Given the description of an element on the screen output the (x, y) to click on. 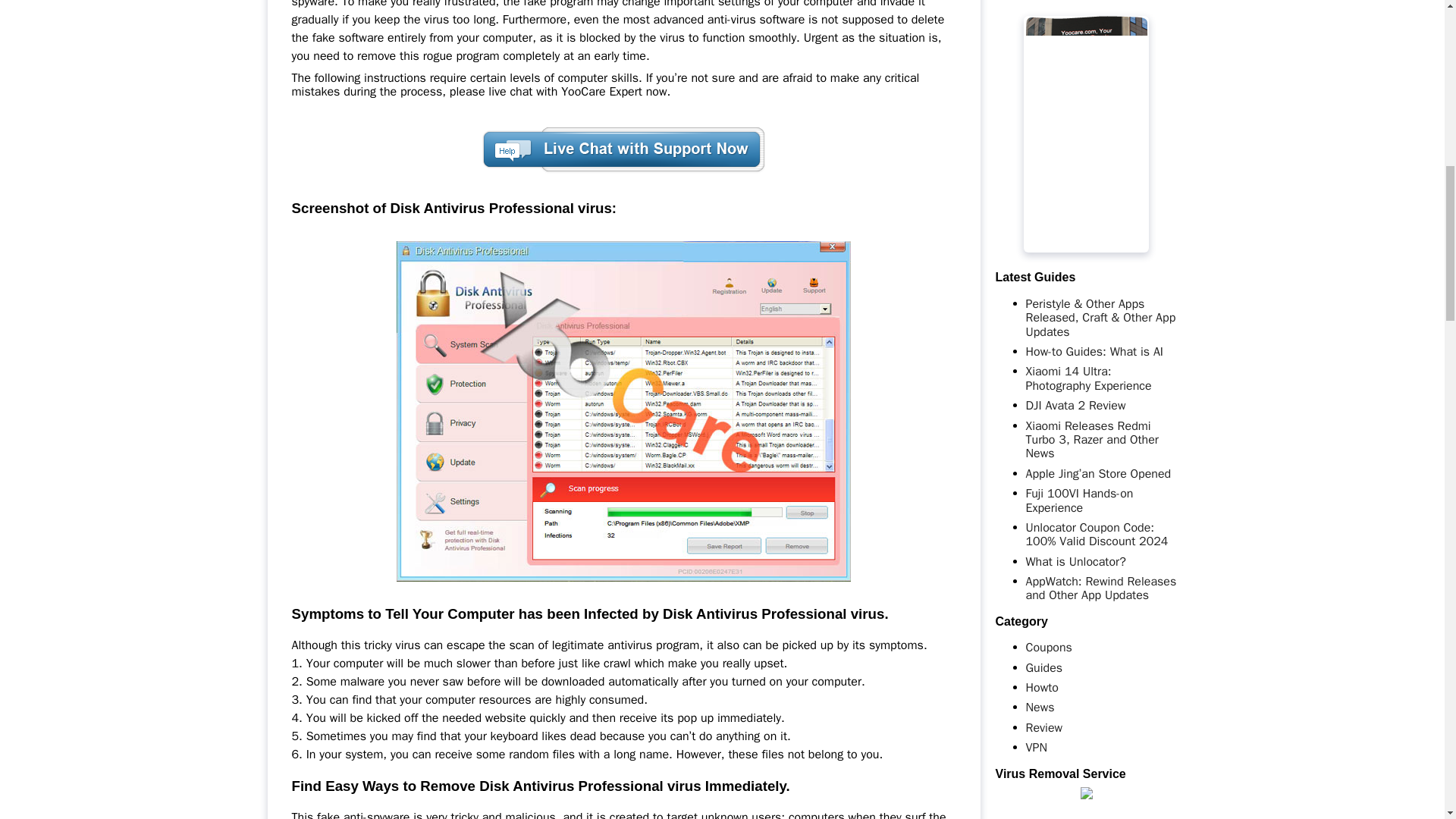
What is Unlocator? (1075, 561)
Coupons (1048, 647)
Howto (1041, 687)
DJI Avata 2 Review (1075, 405)
How-to Guides: What is AI (1094, 351)
VPN (1035, 747)
News (1039, 707)
Guides (1043, 667)
Xiaomi Releases Redmi Turbo 3, Razer and Other News (1091, 439)
Review (1043, 727)
